Given the description of an element on the screen output the (x, y) to click on. 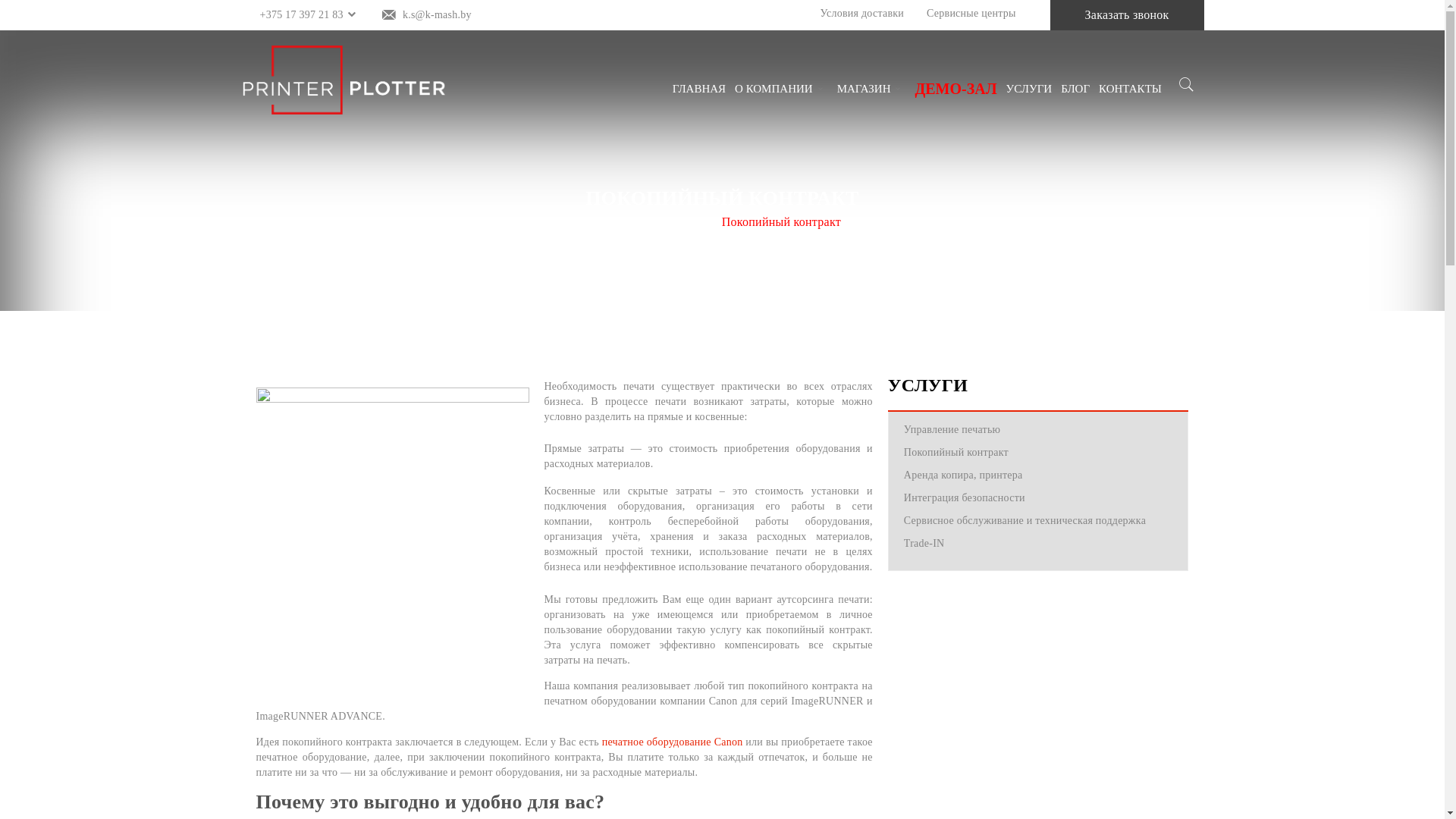
k.s@k-mash.by Element type: text (436, 14)
Printer-Plotter Element type: hover (343, 79)
+375 17 397 21 83 Element type: text (299, 14)
Trade-IN Element type: text (923, 543)
Search Element type: text (1185, 117)
